Given the description of an element on the screen output the (x, y) to click on. 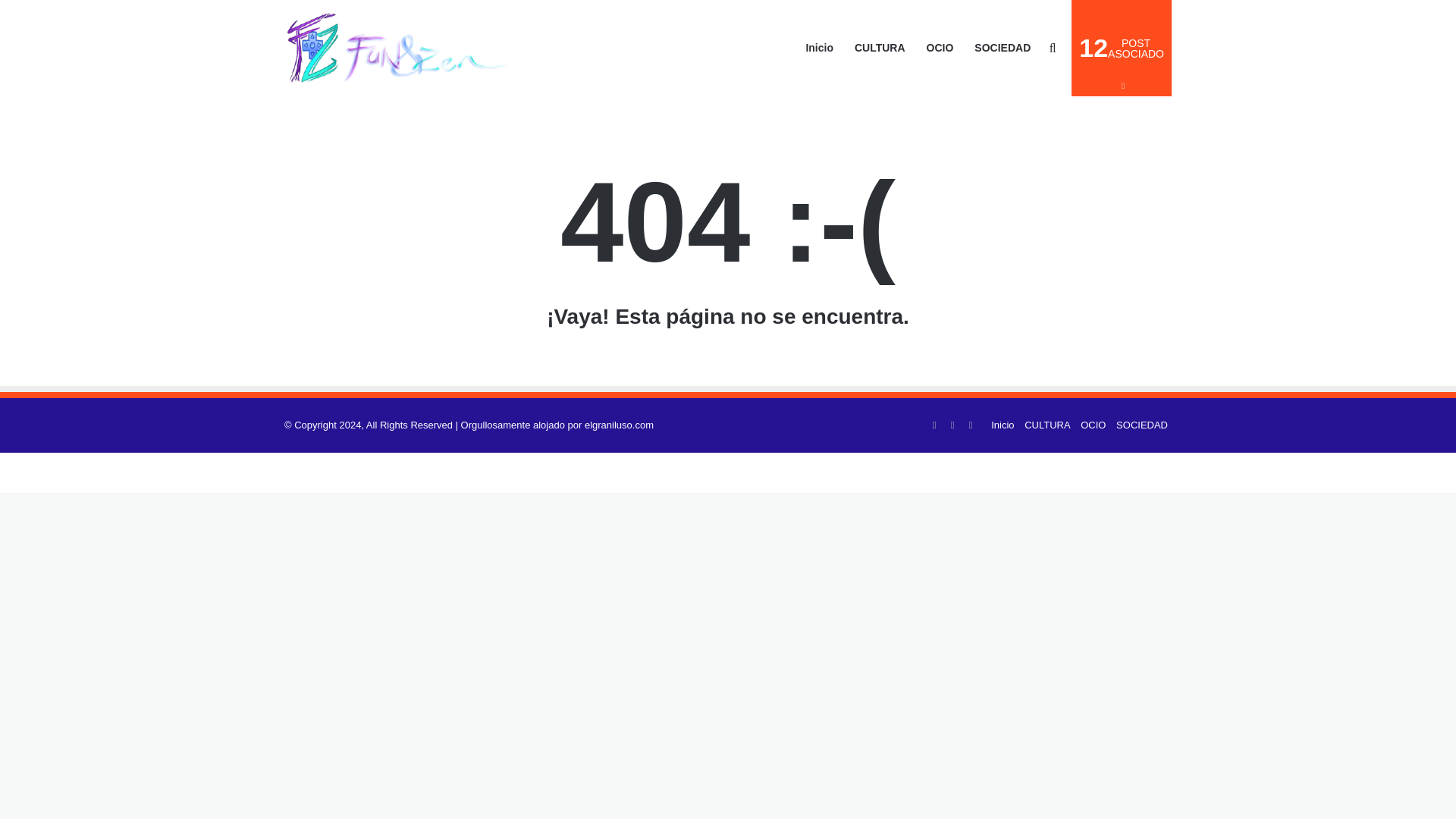
CULTURA (1047, 424)
Facebook (933, 425)
YouTube (1121, 48)
SOCIEDAD (969, 425)
OCIO (1141, 424)
X (1092, 424)
Inicio (951, 425)
